Given the description of an element on the screen output the (x, y) to click on. 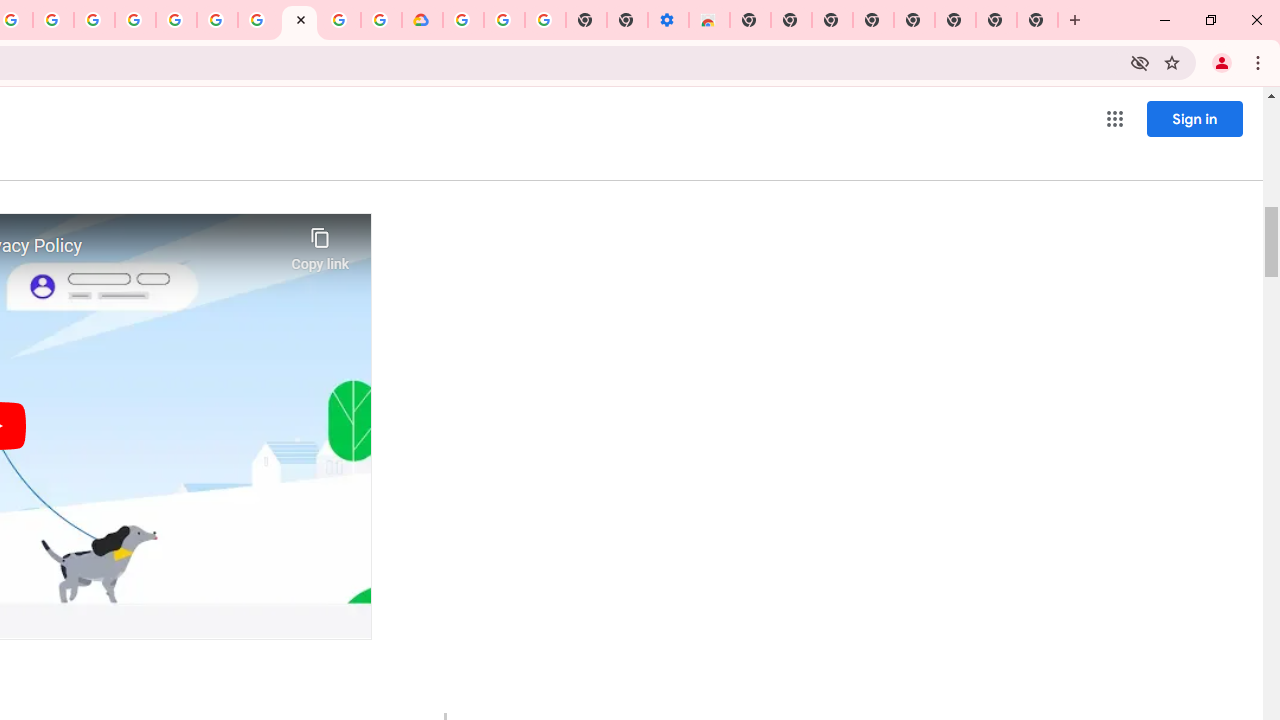
New Tab (749, 20)
Create your Google Account (53, 20)
Browse the Google Chrome Community - Google Chrome Community (381, 20)
Settings - Accessibility (667, 20)
Sign in - Google Accounts (462, 20)
Google Account Help (503, 20)
Ad Settings (135, 20)
